Given the description of an element on the screen output the (x, y) to click on. 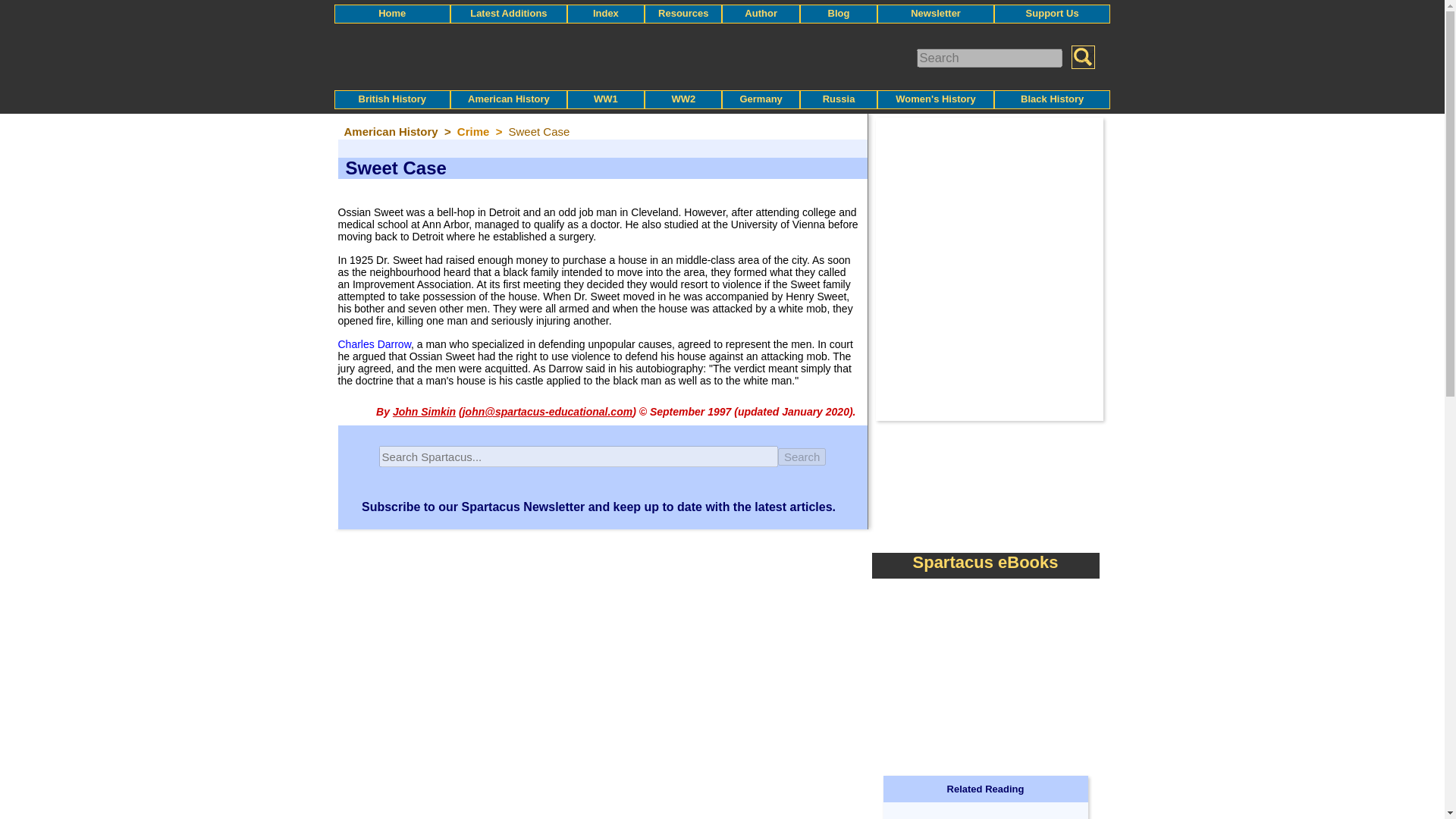
Search (802, 456)
Resources (682, 12)
Index (605, 12)
Women's History (935, 98)
Newsletter (935, 12)
Author (760, 12)
Latest Additions (508, 12)
Black History (1051, 98)
American History (508, 98)
Support Us (1052, 12)
